Given the description of an element on the screen output the (x, y) to click on. 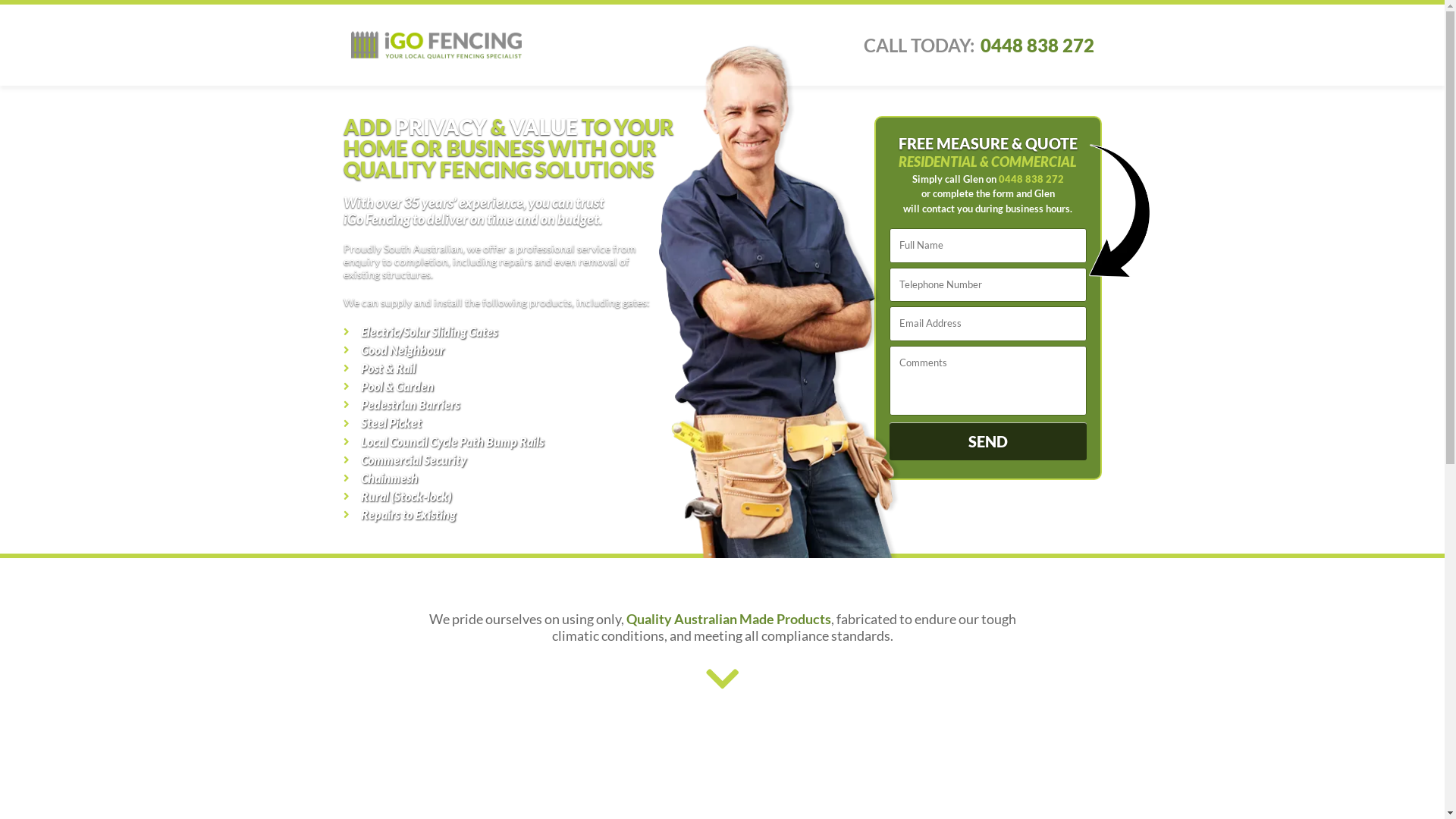
0448 838 272 Element type: text (1036, 45)
0448 838 272 Element type: text (1030, 178)
Send Element type: text (986, 441)
